Given the description of an element on the screen output the (x, y) to click on. 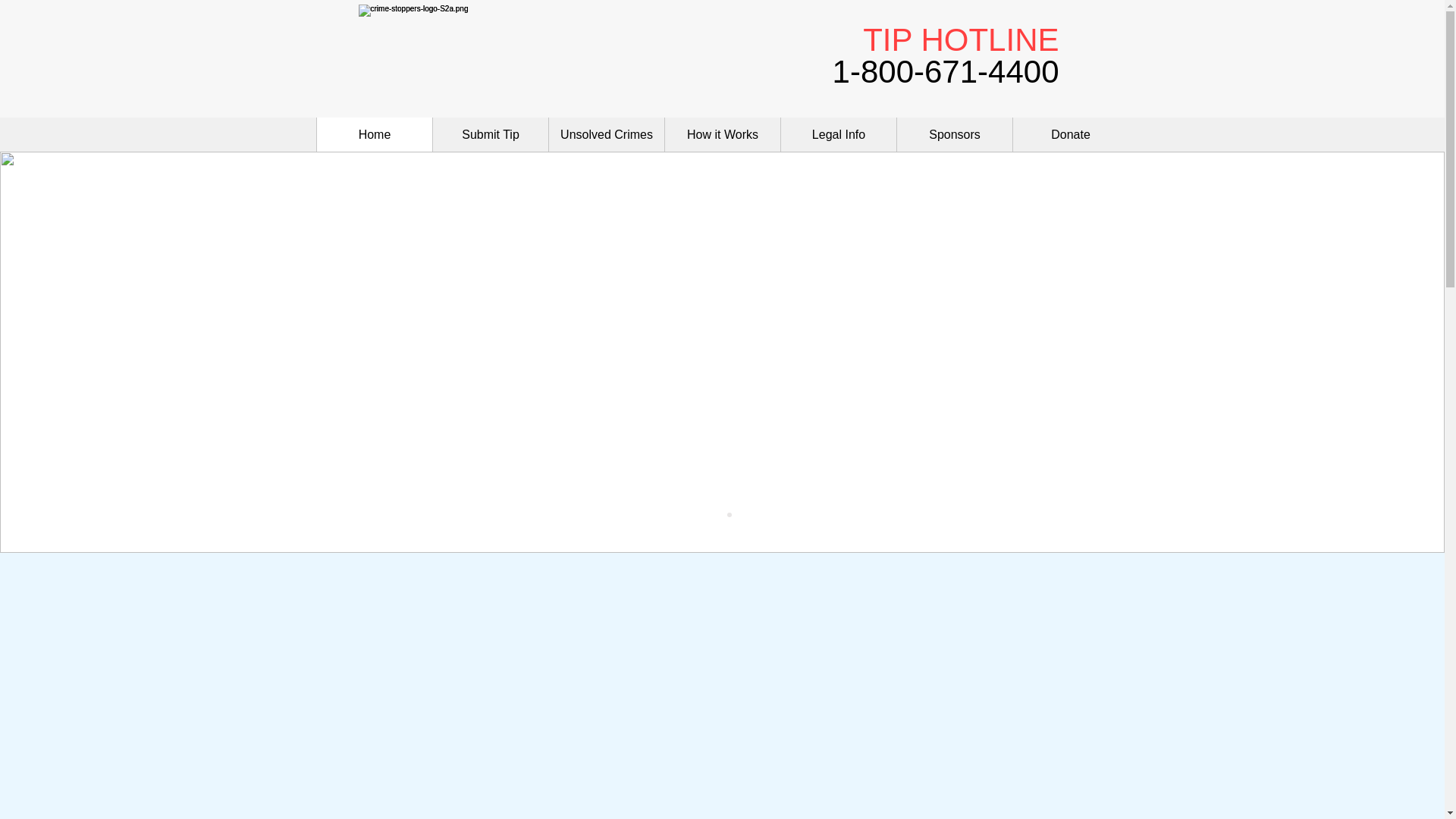
How it Works (721, 134)
Donate (1069, 134)
Unsolved Crimes (605, 134)
Home (373, 134)
Sponsors (953, 134)
Submit Tip (490, 134)
Legal Info (838, 134)
